Given the description of an element on the screen output the (x, y) to click on. 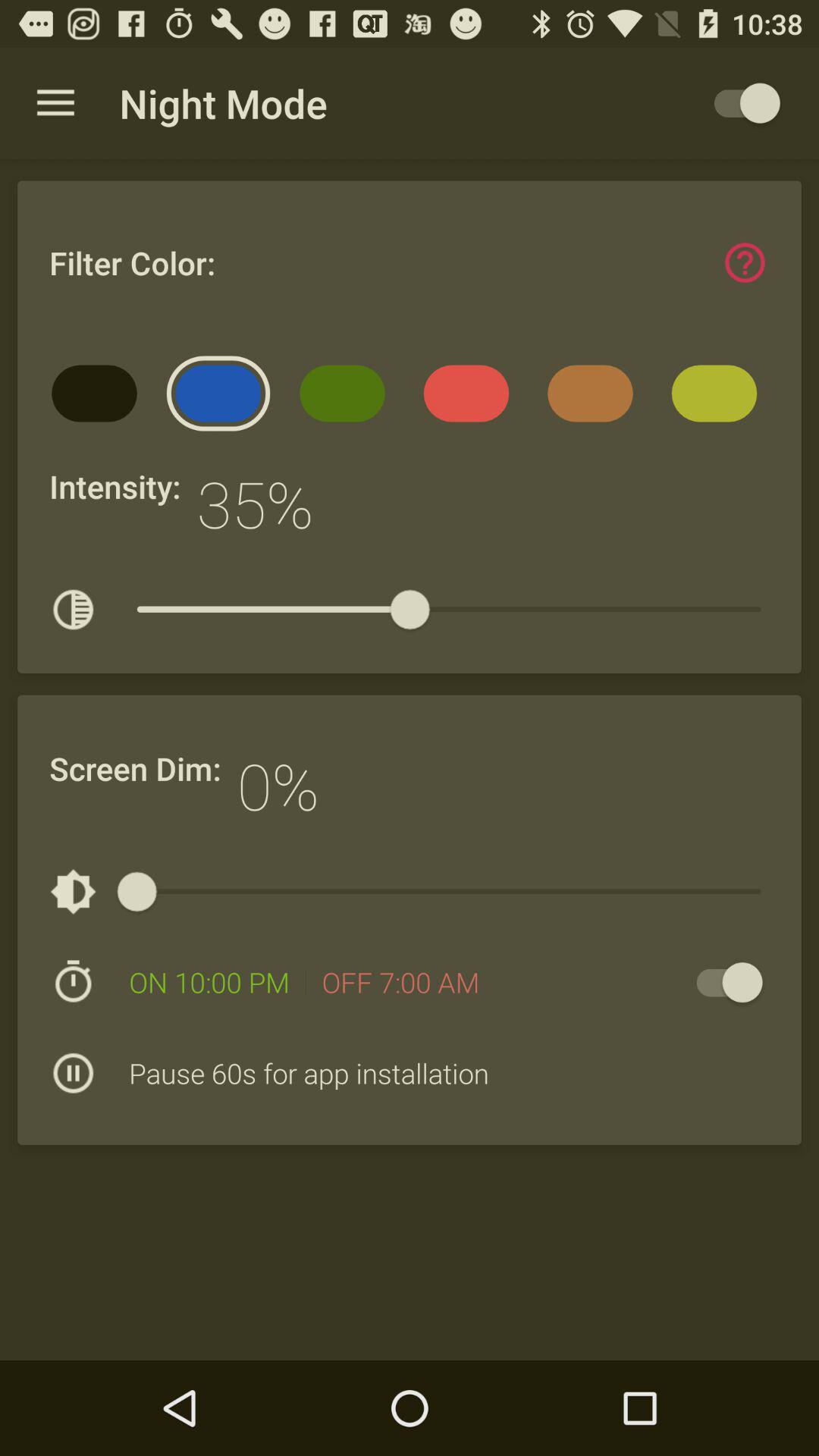
toggle autotimer (722, 982)
